Given the description of an element on the screen output the (x, y) to click on. 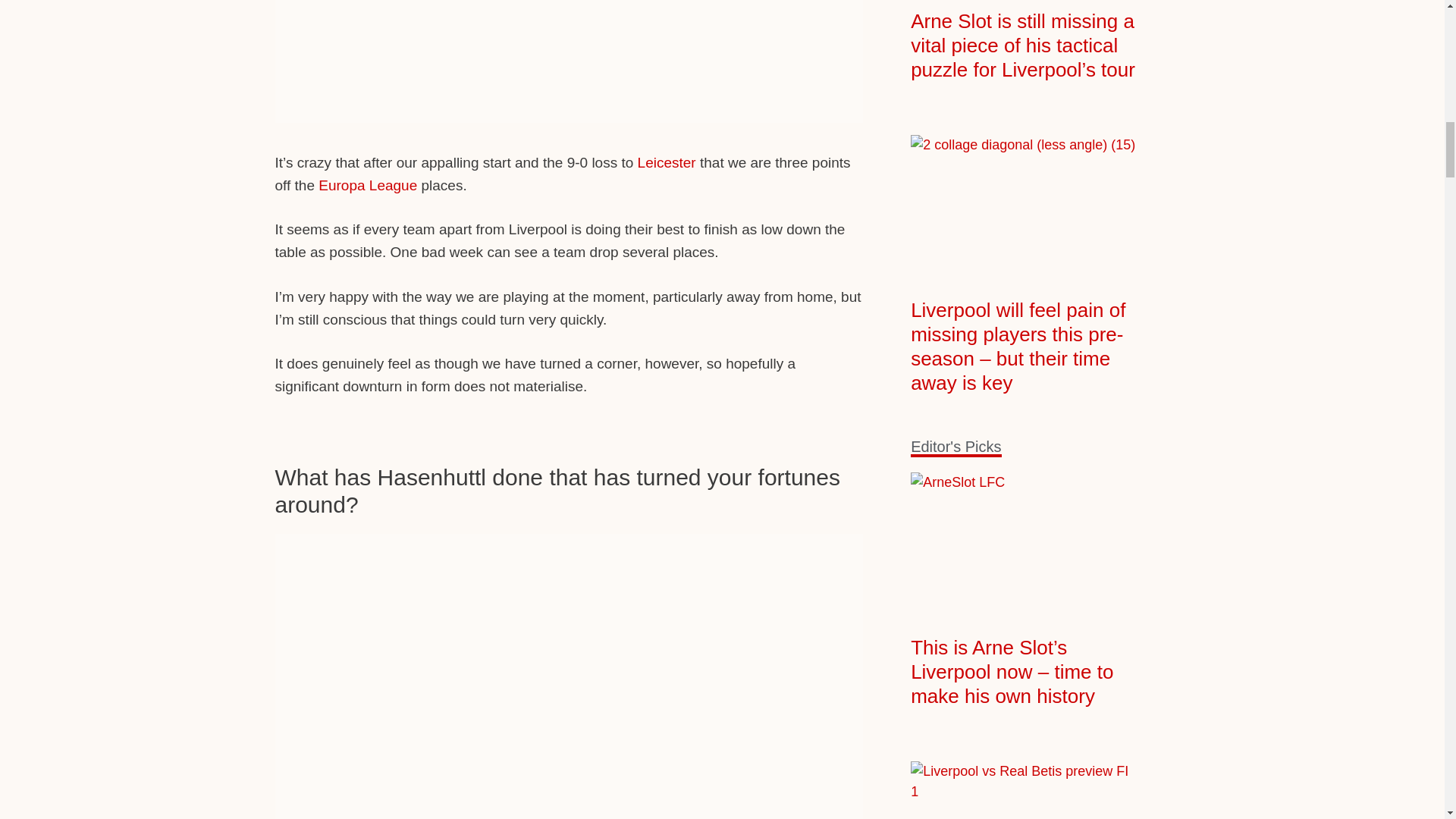
Leicester (666, 162)
